Given the description of an element on the screen output the (x, y) to click on. 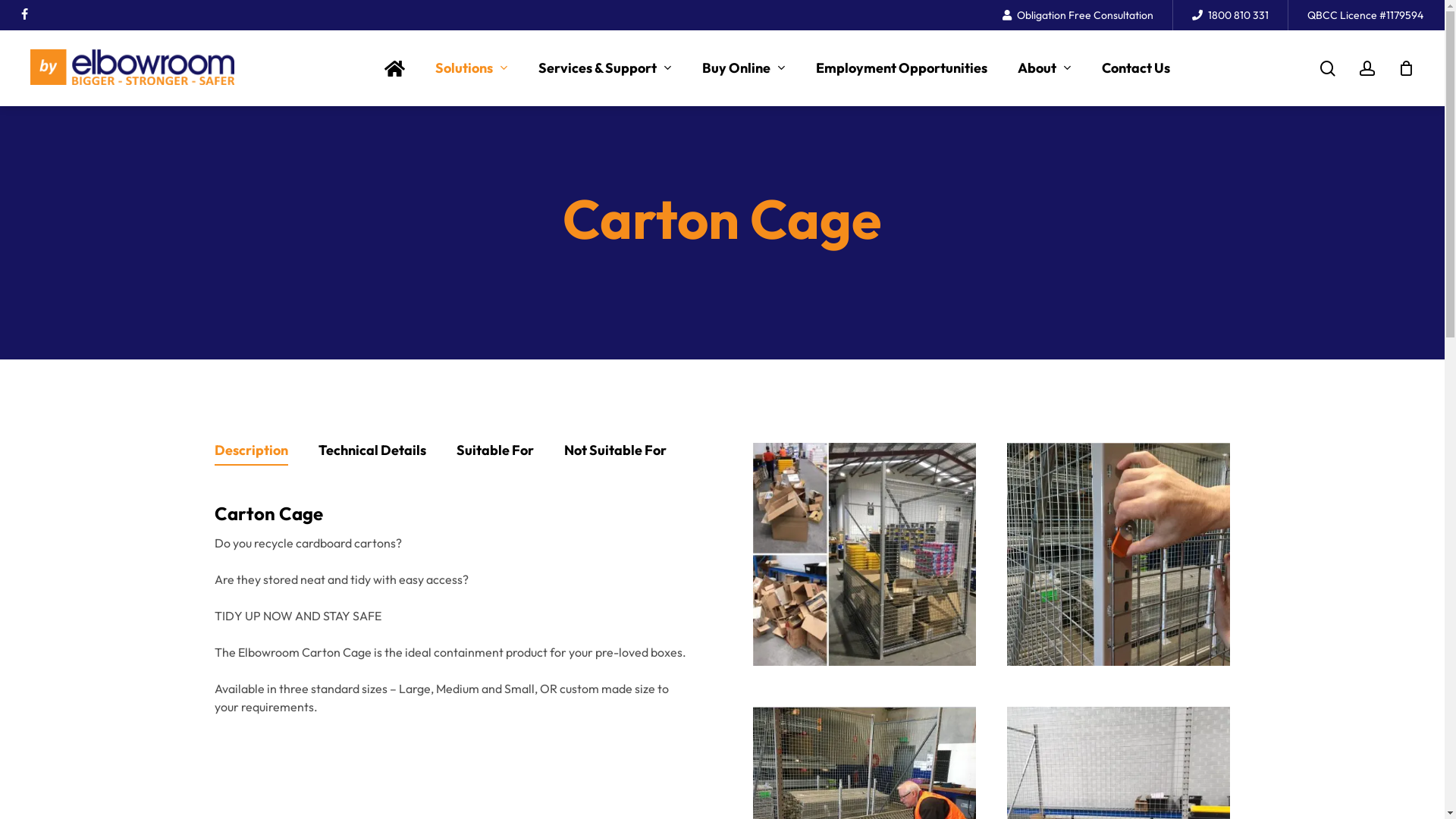
facebook Element type: text (24, 14)
1800 810 331 Element type: text (1230, 14)
Description Element type: text (250, 453)
Services & Support Element type: text (605, 68)
Not Suitable For Element type: text (615, 453)
search Element type: text (1327, 68)
QBCC Licence #1179594 Element type: text (1365, 14)
Carton-Cage-Latch.jpg Element type: hover (1118, 553)
linkedin Element type: text (49, 14)
Contact Us Element type: text (1135, 68)
Obligation Free Consultation Element type: text (1077, 14)
Technical Details Element type: text (372, 453)
CartonCage01-492x600.1 Element type: hover (863, 553)
About Element type: text (1044, 68)
Suitable For Element type: text (494, 453)
Employment Opportunities Element type: text (901, 68)
Buy Online Element type: text (743, 68)
Solutions Element type: text (471, 68)
account Element type: text (1367, 68)
